Given the description of an element on the screen output the (x, y) to click on. 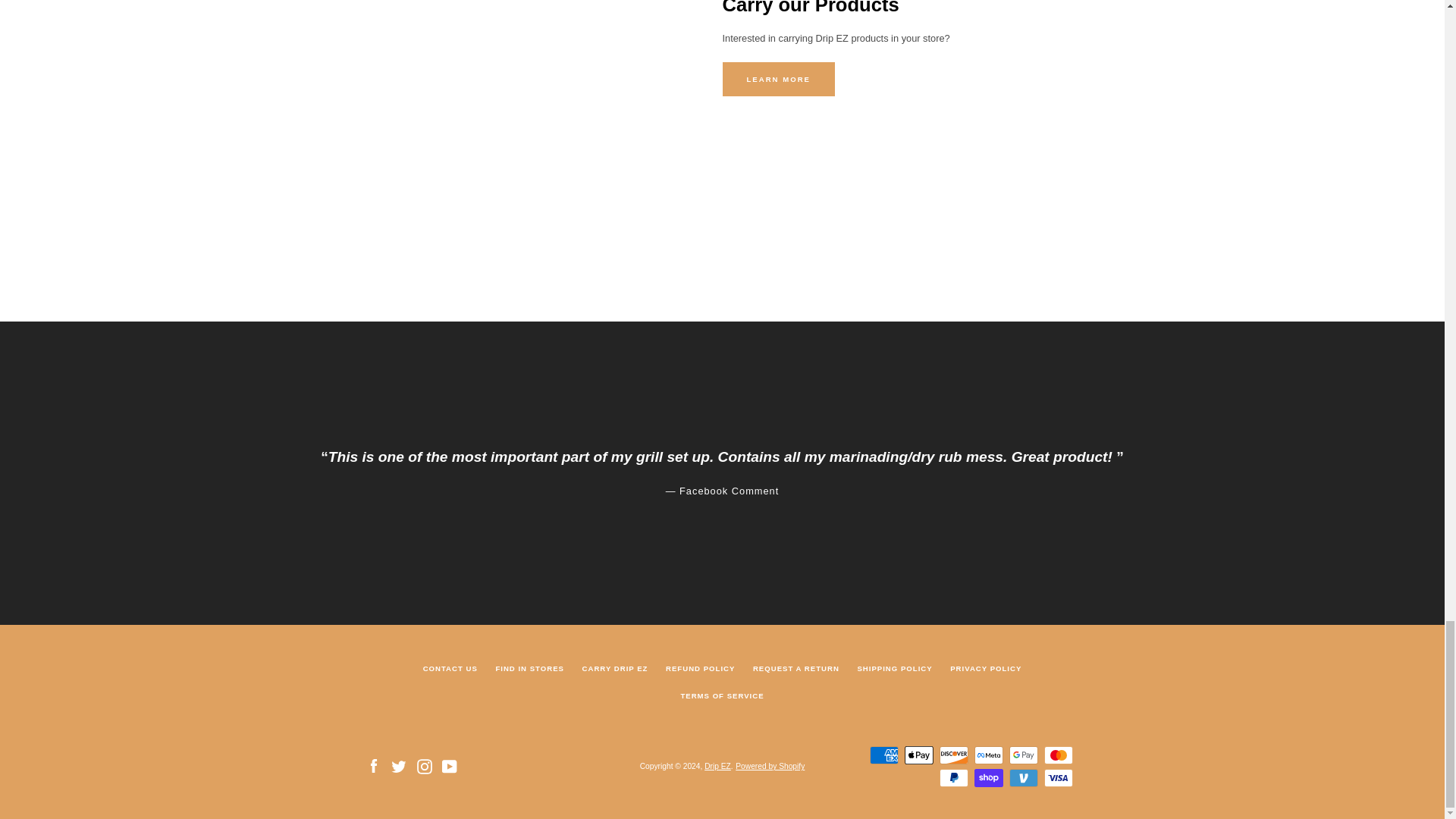
Discover (953, 755)
Google Pay (1022, 755)
PayPal (953, 778)
American Express (883, 755)
Venmo (1022, 778)
Drip EZ on Twitter (398, 765)
Apple Pay (918, 755)
Shop Pay (988, 778)
Drip EZ on YouTube (449, 765)
Drip EZ on Instagram (424, 765)
